Given the description of an element on the screen output the (x, y) to click on. 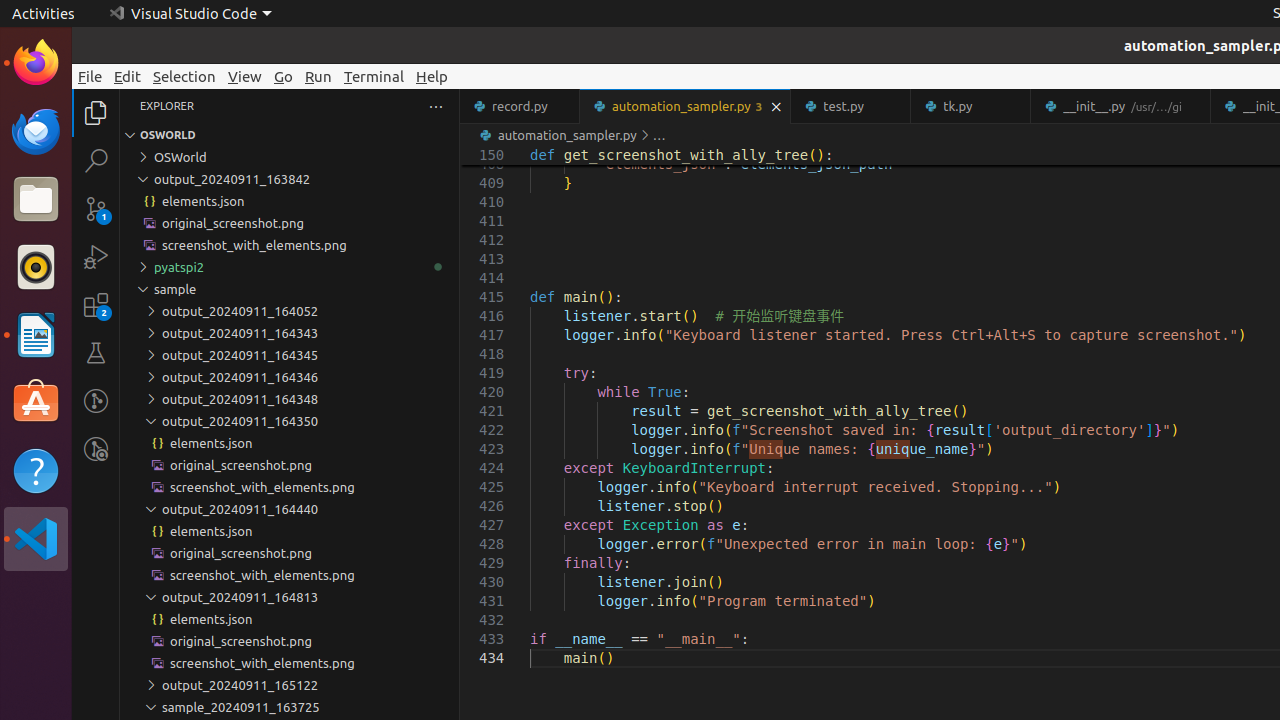
output_20240911_164440 Element type: tree-item (289, 509)
test.py Element type: page-tab (851, 106)
Source Control (Ctrl+Shift+G G) - 1 pending changes Element type: page-tab (96, 208)
